Given the description of an element on the screen output the (x, y) to click on. 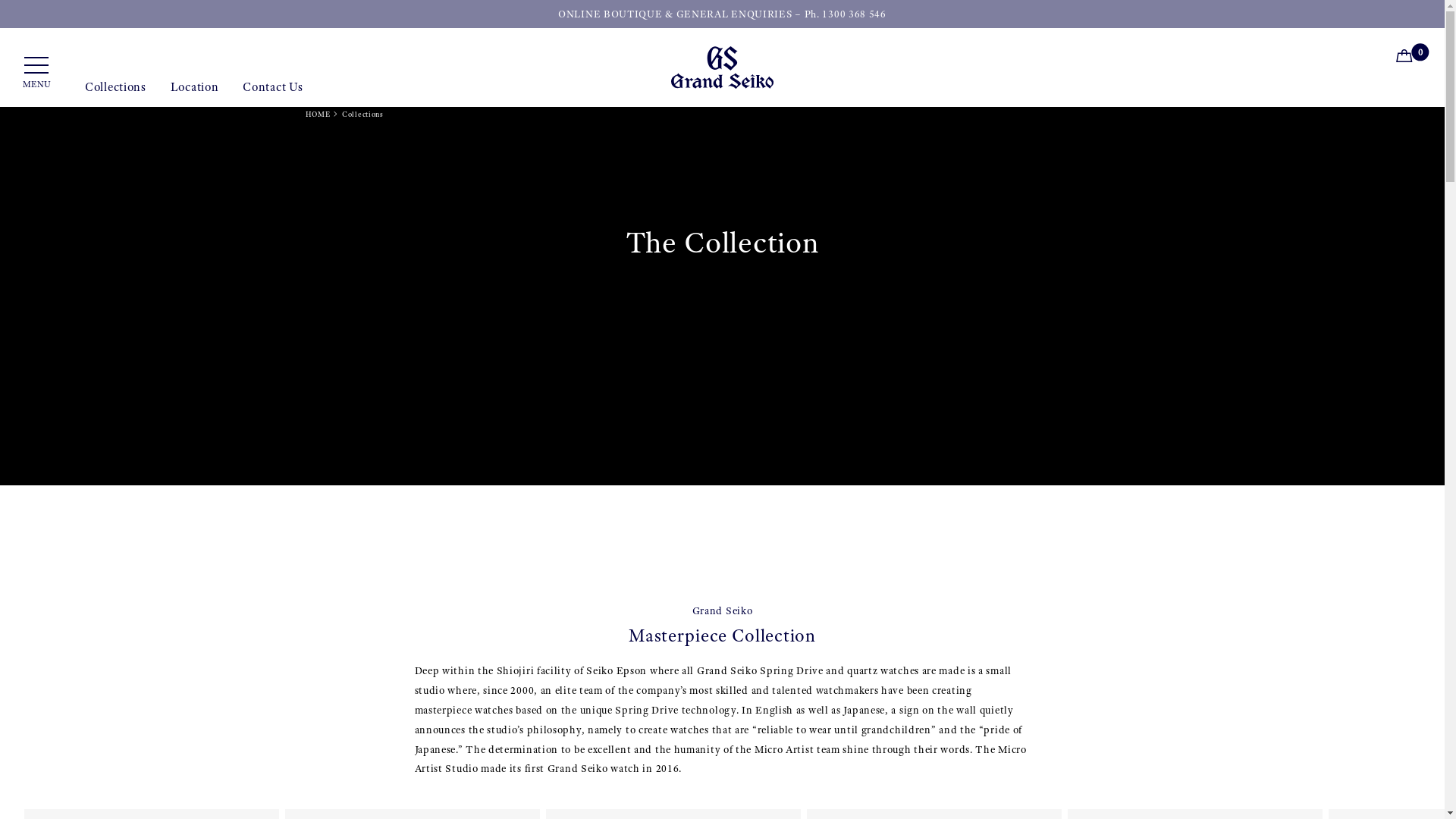
Contact Us Element type: text (272, 92)
MENU Element type: text (36, 72)
HOME Element type: text (316, 114)
Collections Element type: text (115, 92)
0 Element type: text (1407, 58)
Location Element type: text (194, 92)
